Given the description of an element on the screen output the (x, y) to click on. 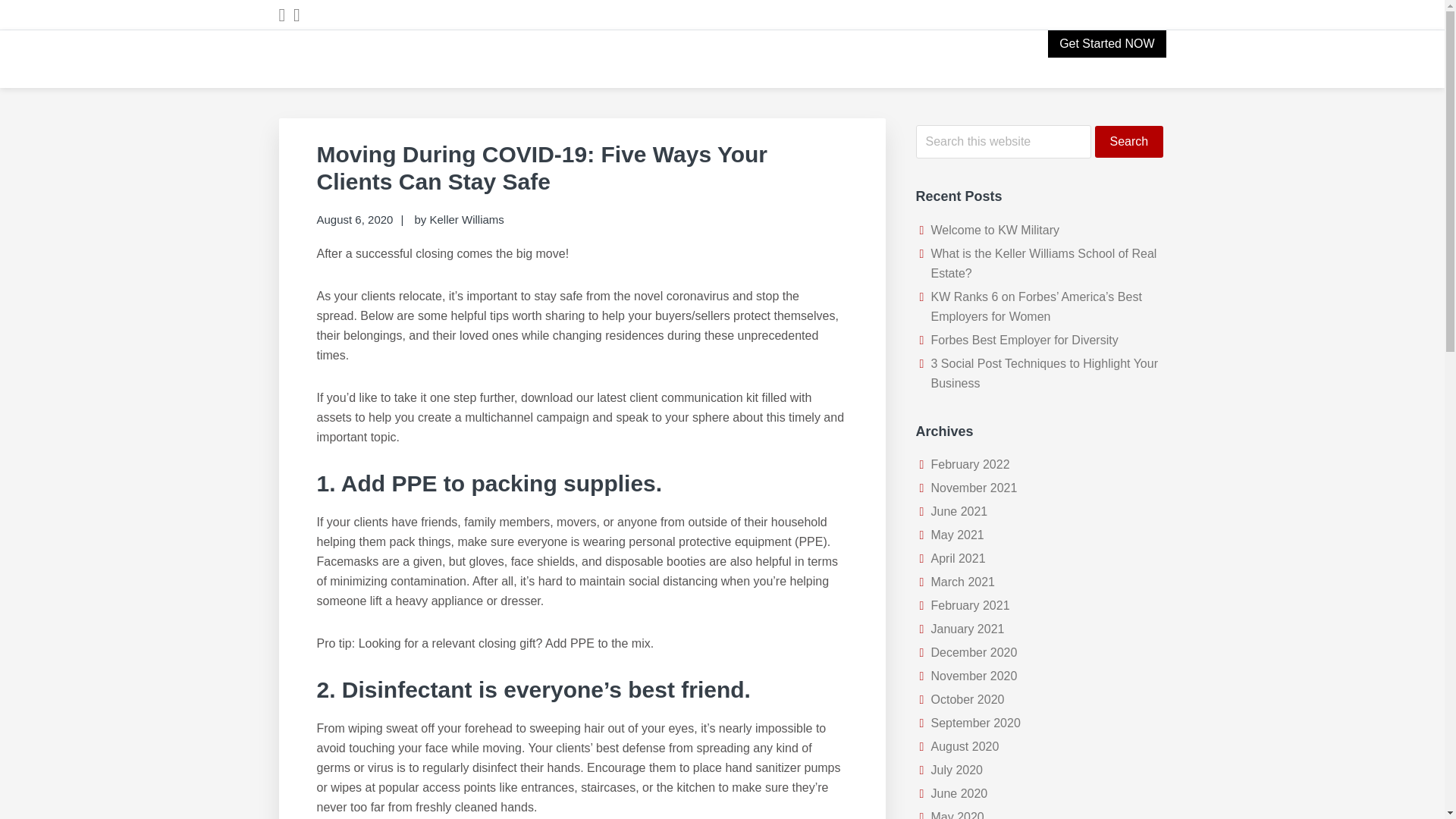
February 2021 (970, 604)
July 2020 (957, 769)
November 2021 (974, 487)
Forbes Best Employer for Diversity (1024, 339)
November 2020 (974, 675)
January 2021 (967, 628)
Search (1128, 142)
What is the Keller Williams School of Real Estate? (1044, 263)
June 2021 (959, 511)
April 2021 (958, 558)
December 2020 (974, 652)
August 2020 (964, 746)
Welcome to KW Military (995, 229)
March 2021 (963, 581)
